Given the description of an element on the screen output the (x, y) to click on. 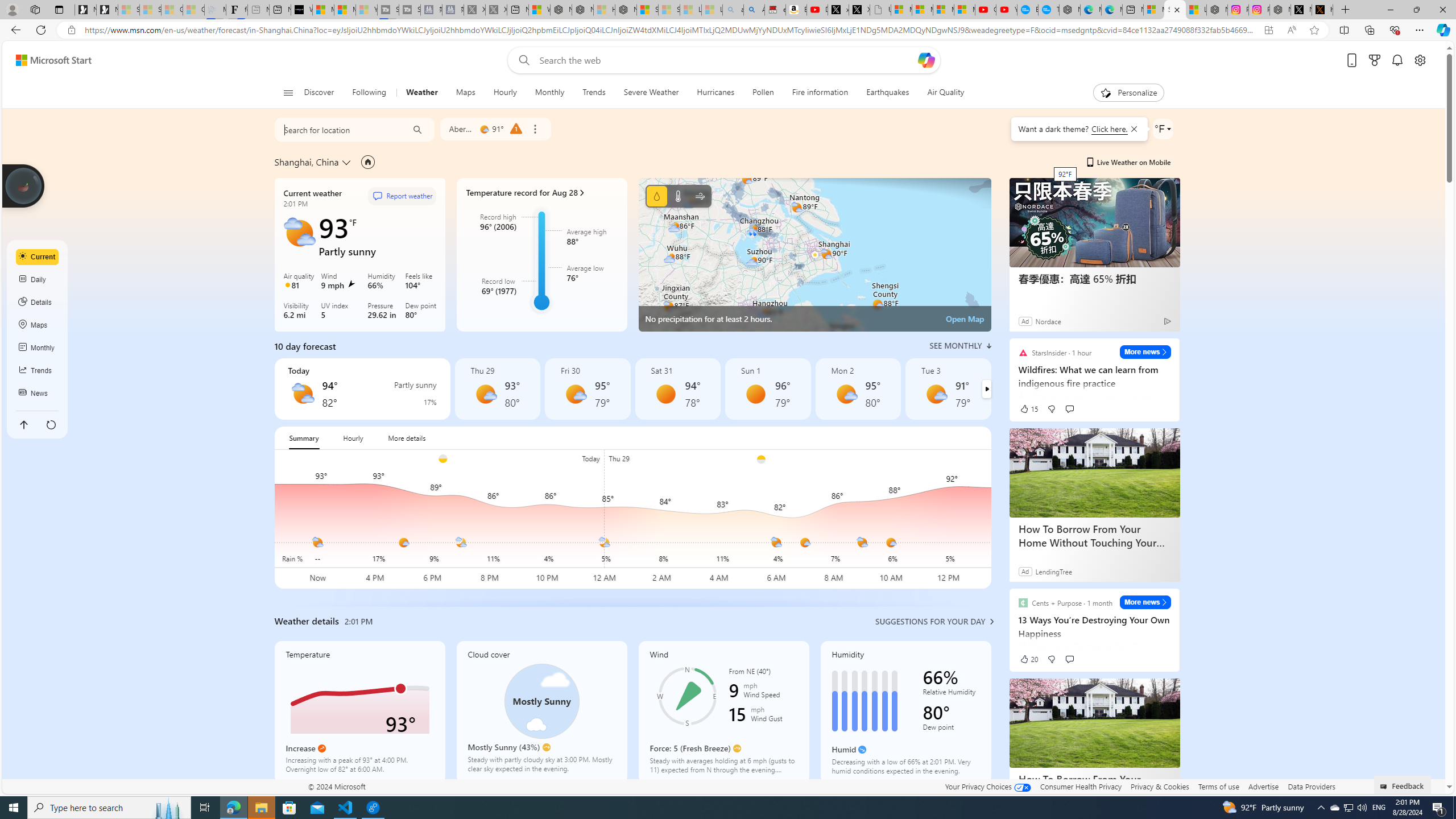
Wind (723, 711)
How To Borrow From Your Home Without Touching Your Mortgage (1094, 723)
Pollen (763, 92)
Report weather (402, 195)
Class: feedback_link_icon-DS-EntryPoint1-1 (1384, 786)
